Given the description of an element on the screen output the (x, y) to click on. 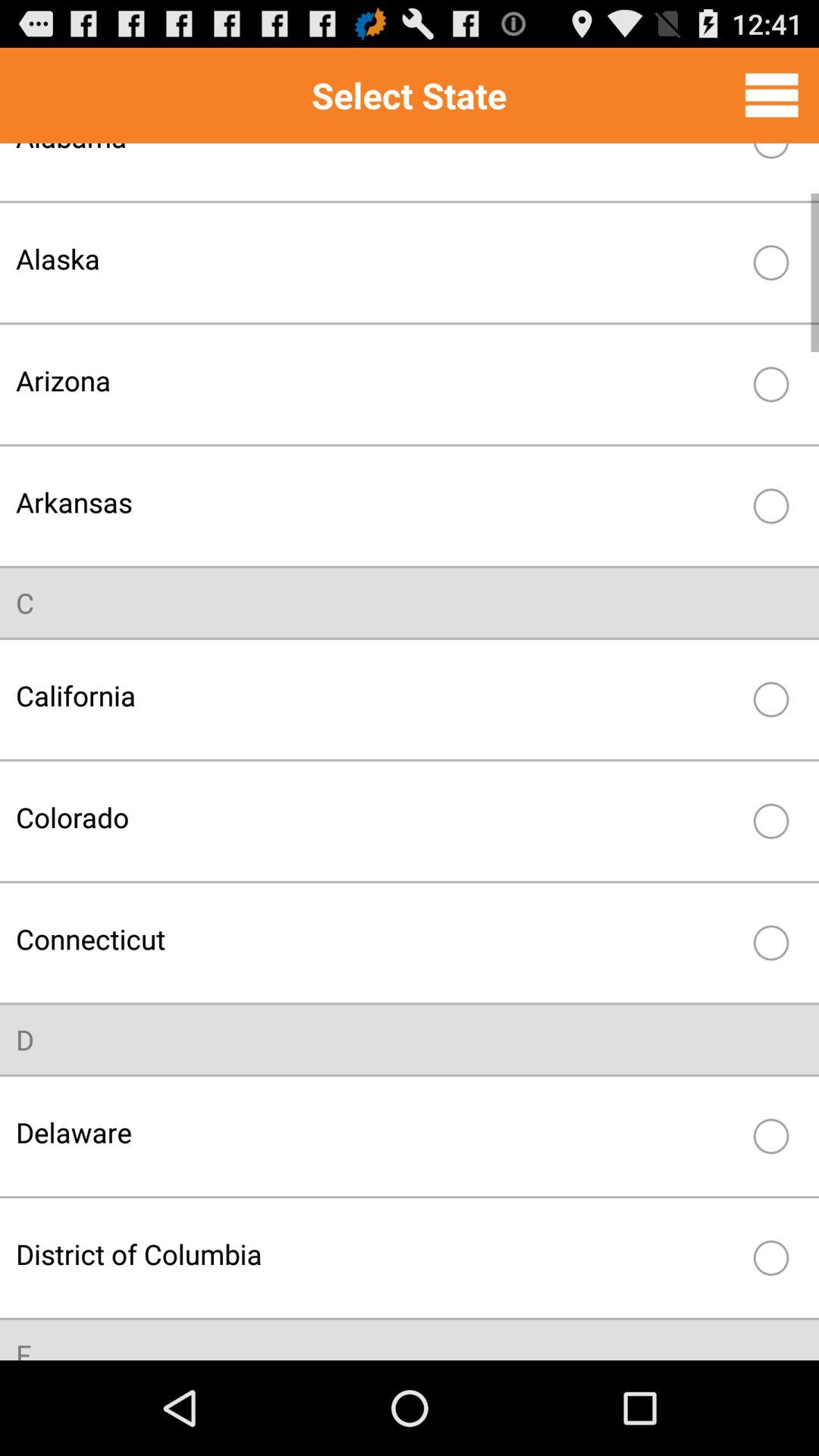
flip until the colorado (377, 817)
